Given the description of an element on the screen output the (x, y) to click on. 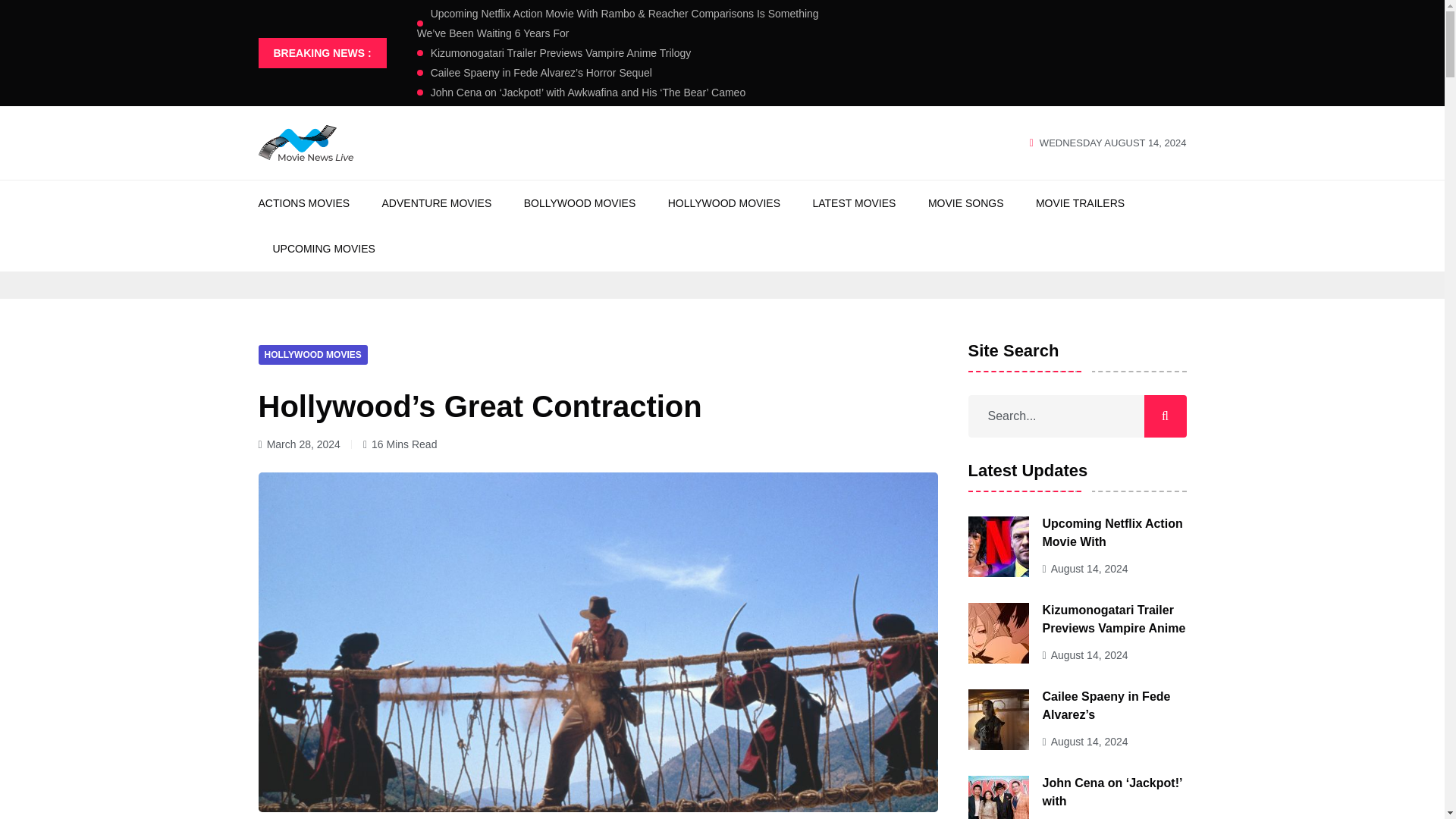
March 28, 2024 (303, 444)
LATEST MOVIES (853, 203)
HOLLYWOOD MOVIES (311, 353)
ACTIONS MOVIES (303, 203)
UPCOMING MOVIES (324, 248)
MOVIE TRAILERS (1079, 203)
Kizumonogatari Trailer Previews Vampire Anime Trilogy (553, 52)
HOLLYWOOD MOVIES (724, 203)
ADVENTURE MOVIES (436, 203)
BOLLYWOOD MOVIES (580, 203)
